Given the description of an element on the screen output the (x, y) to click on. 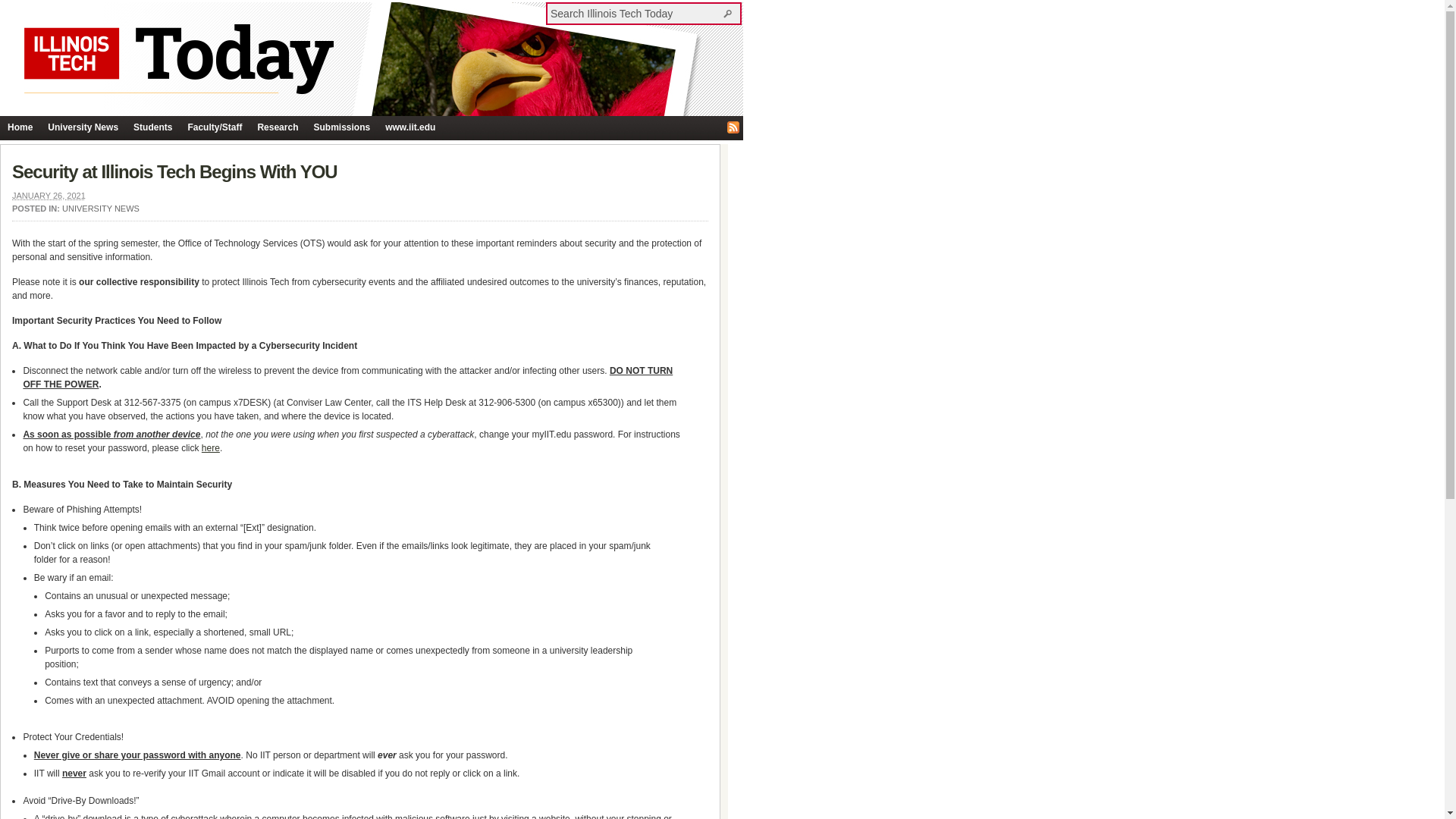
UNIVERSITY NEWS (100, 207)
Search (729, 13)
Search (729, 13)
Students (152, 127)
Security at Illinois Tech Begins With YOU (174, 171)
RSS Feed (732, 127)
www.iit.edu (409, 127)
Research (276, 127)
2021-01-26T15:49:18-06:00 (48, 194)
Submissions (341, 127)
Search Illinois Tech Today (729, 13)
Search Illinois Tech Today (636, 13)
Search (729, 13)
University News (82, 127)
here (210, 448)
